Given the description of an element on the screen output the (x, y) to click on. 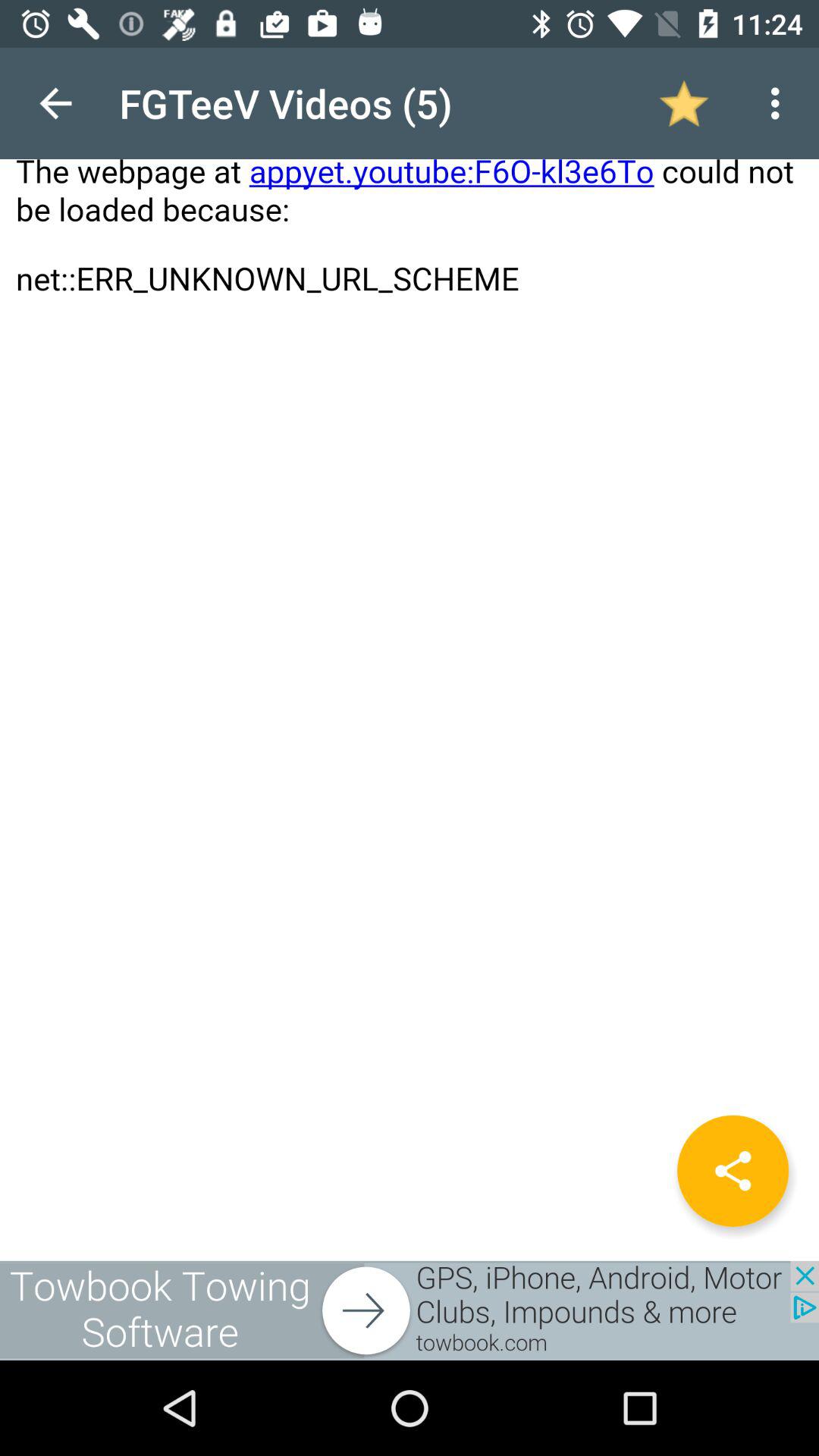
advertisement link (409, 1310)
